Given the description of an element on the screen output the (x, y) to click on. 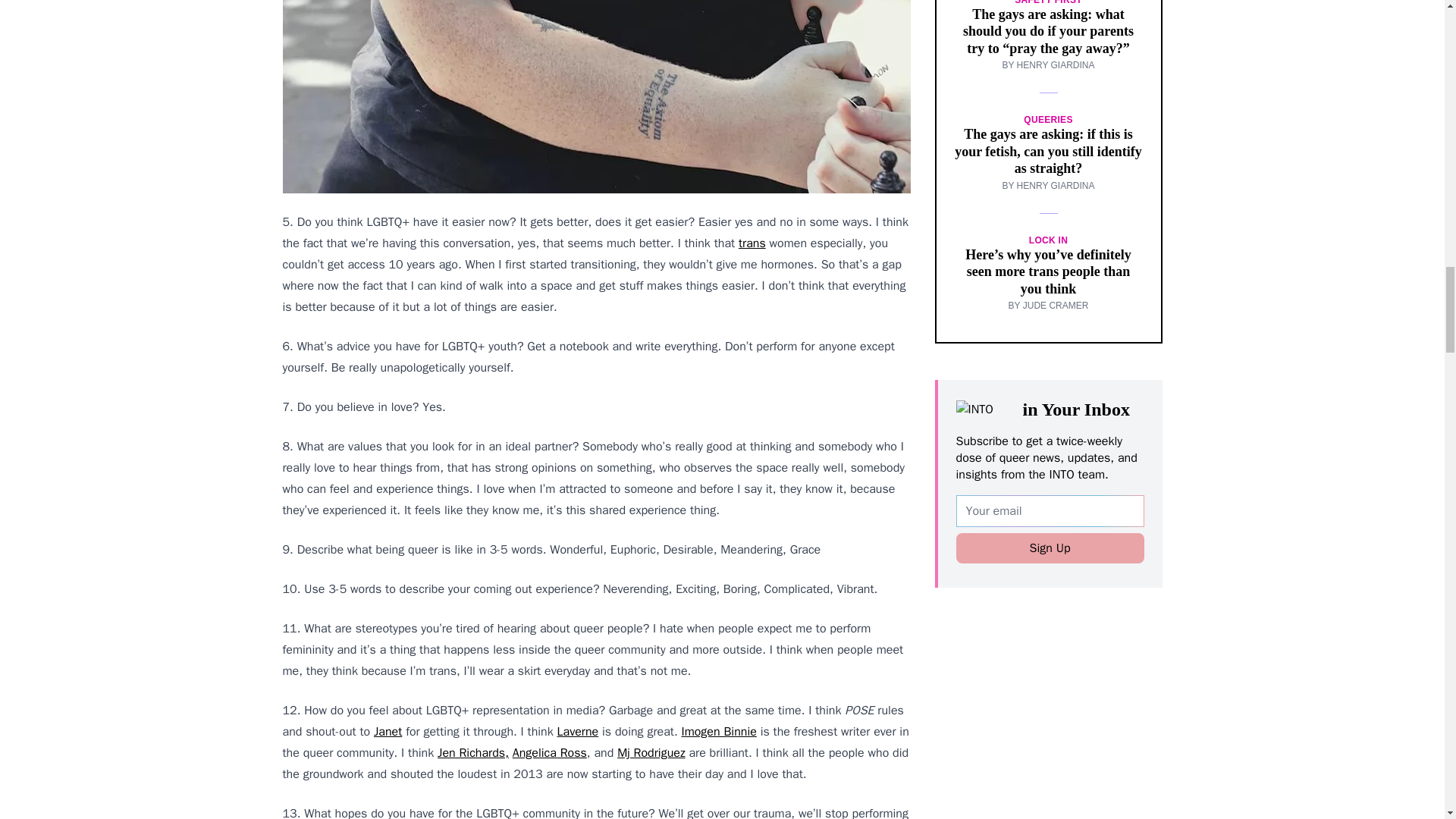
Imogen Binnie (718, 731)
Angelica Ross (549, 752)
Janet (387, 731)
Mj Rodriguez (650, 752)
Laverne (577, 731)
Sign Up (1048, 548)
Jen Richards, (473, 752)
trans (751, 242)
